Given the description of an element on the screen output the (x, y) to click on. 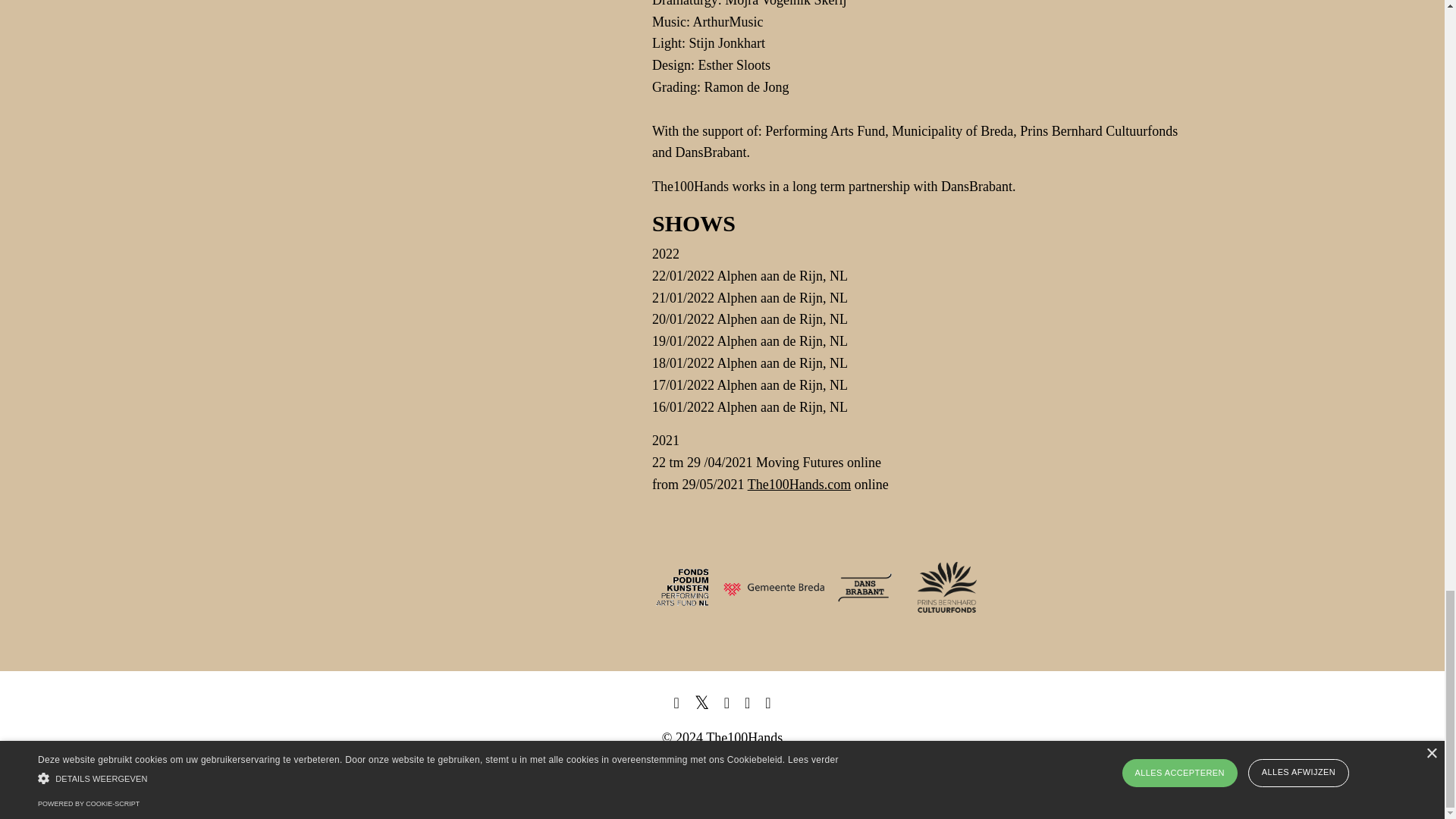
Powered by Kajabi (1158, 794)
The100Hands.com (799, 484)
